Given the description of an element on the screen output the (x, y) to click on. 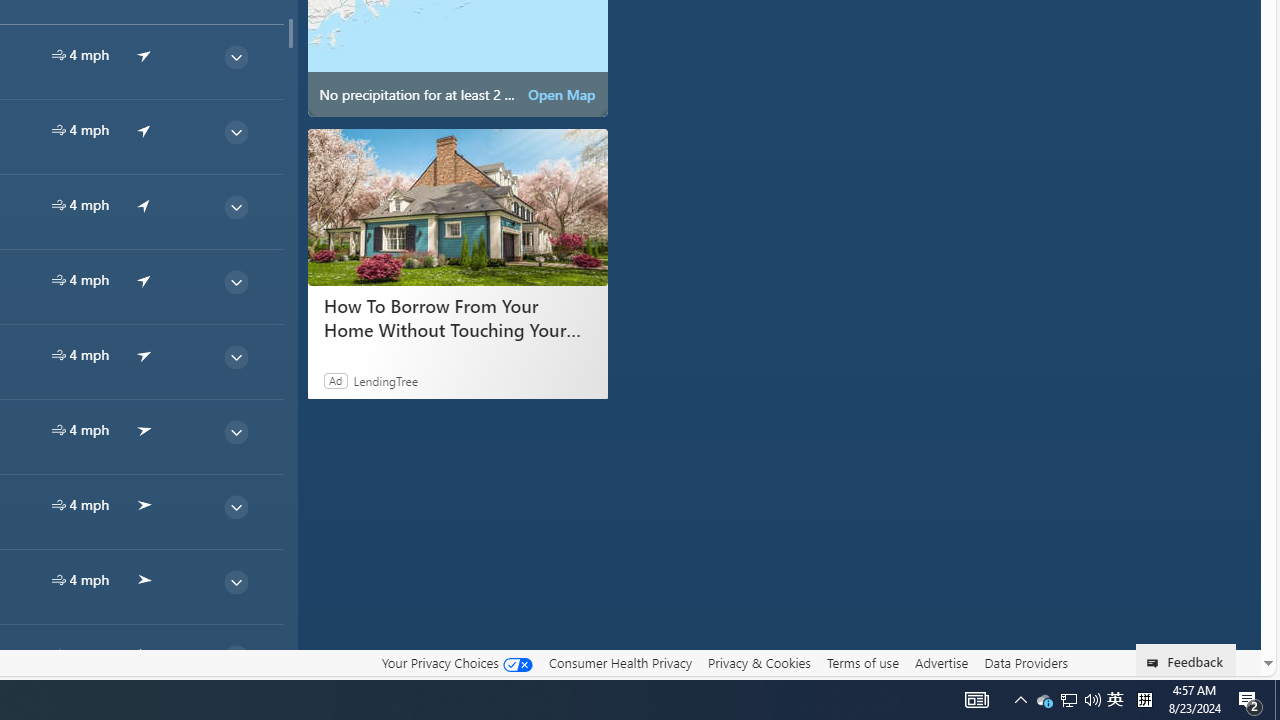
common/thinArrow (235, 656)
Data Providers (1025, 663)
hourlyTable/wind (58, 654)
Open Map (561, 94)
common/arrow (143, 654)
